Given the description of an element on the screen output the (x, y) to click on. 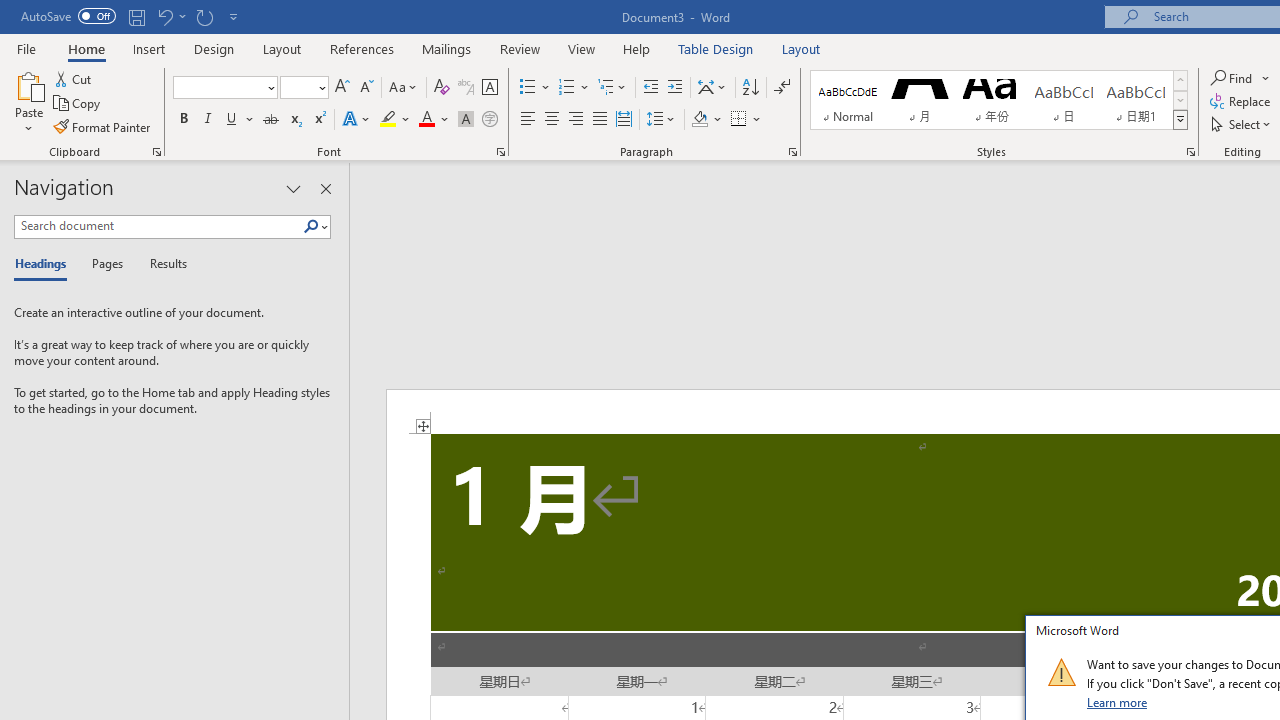
Asian Layout (712, 87)
Enclose Characters... (489, 119)
Justify (599, 119)
Decrease Indent (650, 87)
Show/Hide Editing Marks (781, 87)
Learn more (1118, 702)
Phonetic Guide... (465, 87)
Align Left (527, 119)
Line and Paragraph Spacing (661, 119)
Character Shading (465, 119)
Distributed (623, 119)
File Tab (26, 48)
